Given the description of an element on the screen output the (x, y) to click on. 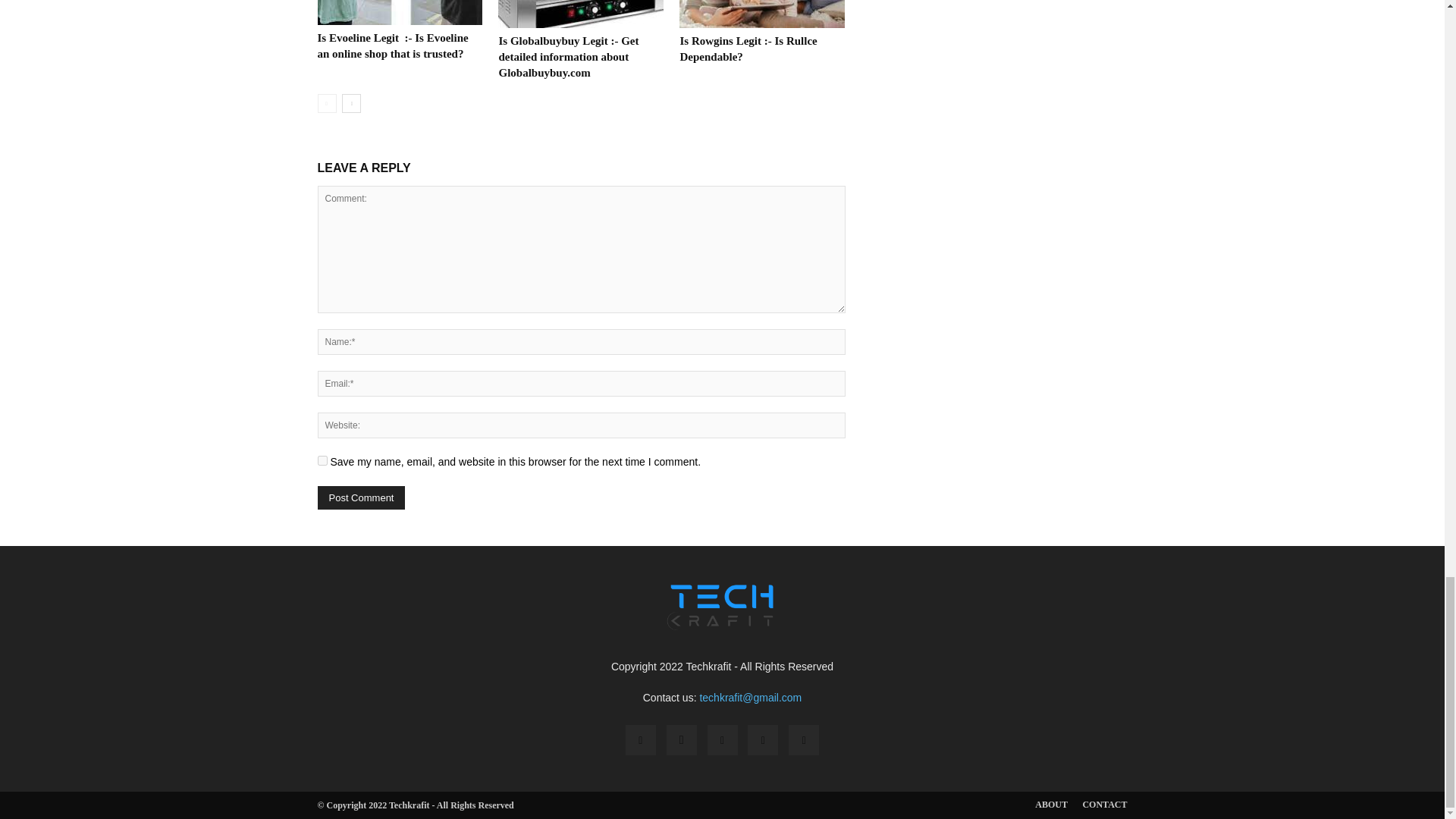
Post Comment (360, 497)
yes (321, 460)
